Given the description of an element on the screen output the (x, y) to click on. 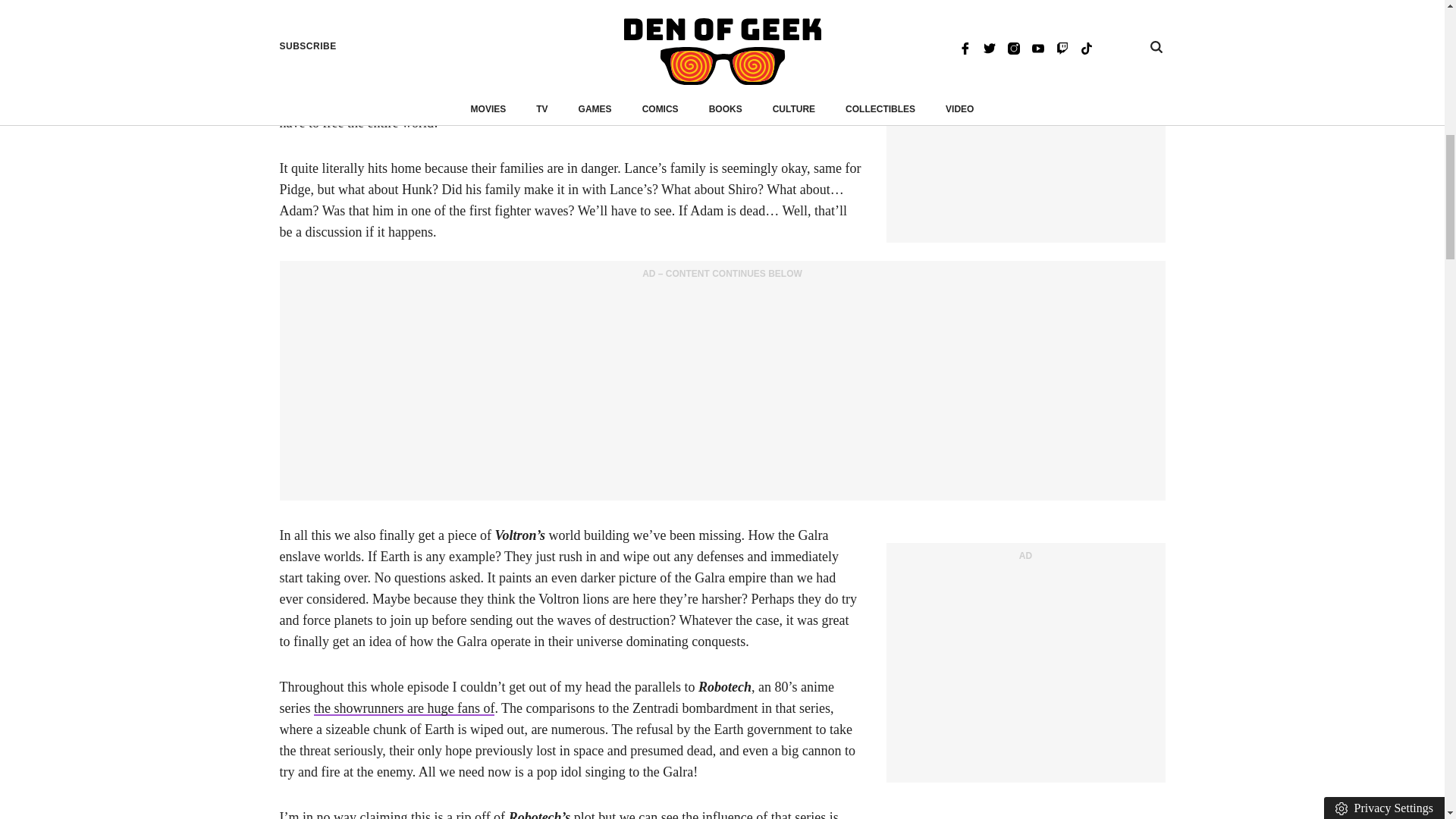
the showrunners are huge fans of (404, 708)
The Many Influences of Voltron (404, 708)
